Given the description of an element on the screen output the (x, y) to click on. 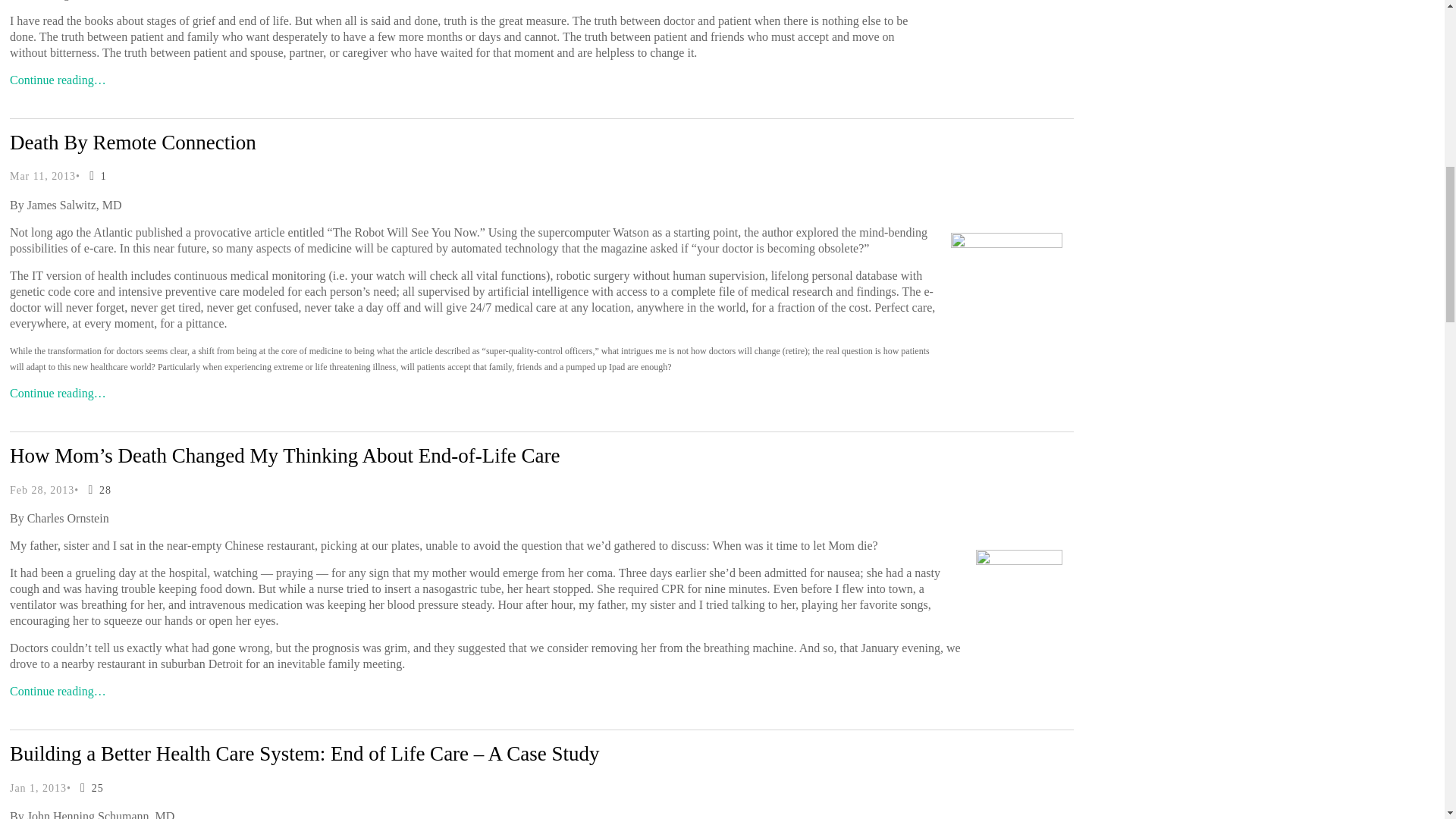
28 (97, 490)
1 (94, 175)
Death By Remote Connection (133, 142)
